Given the description of an element on the screen output the (x, y) to click on. 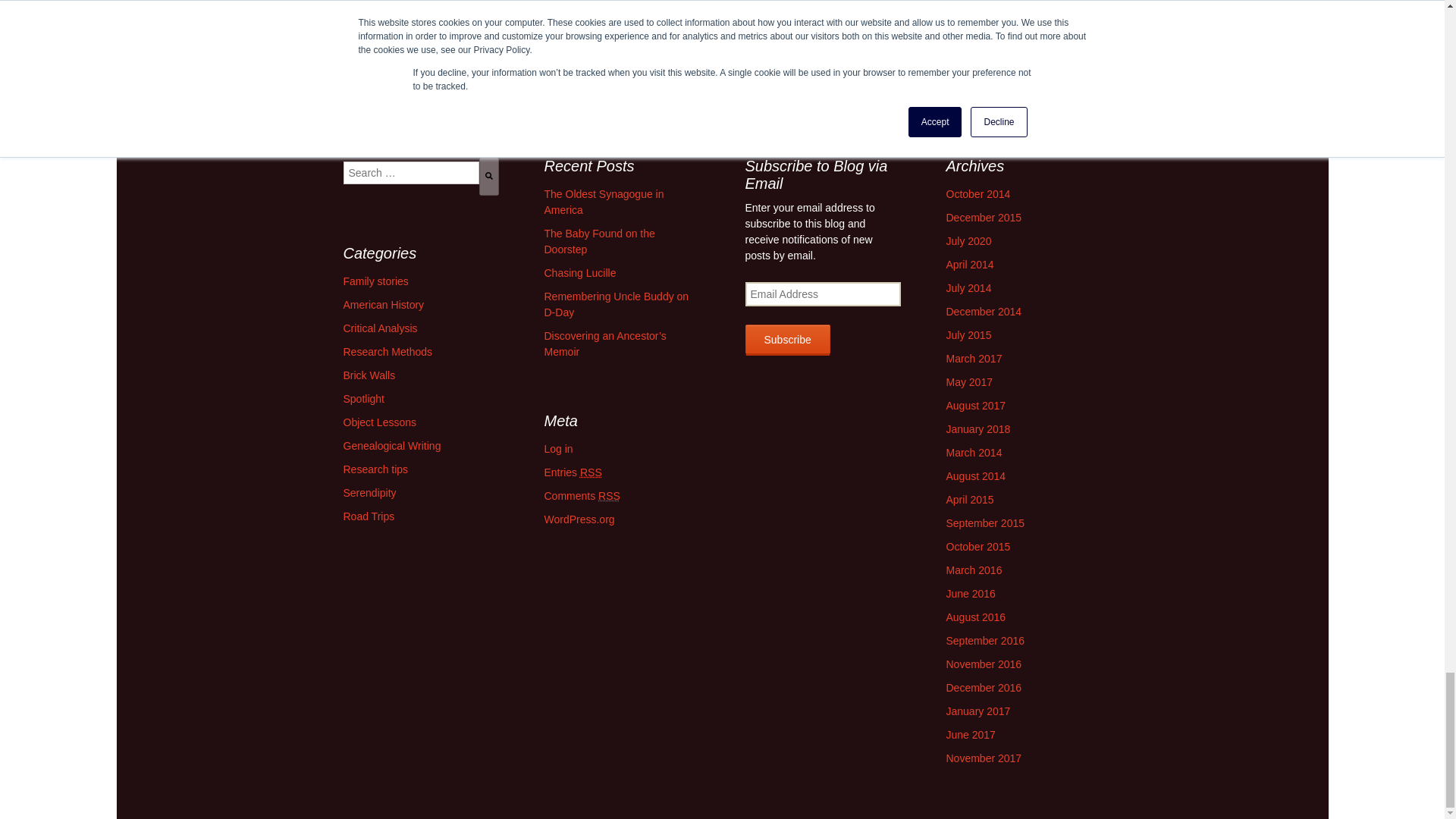
Really Simple Syndication (609, 495)
Submit Comment (543, 69)
reCAPTCHA (590, 21)
Subscribe (786, 339)
Really Simple Syndication (590, 472)
